Given the description of an element on the screen output the (x, y) to click on. 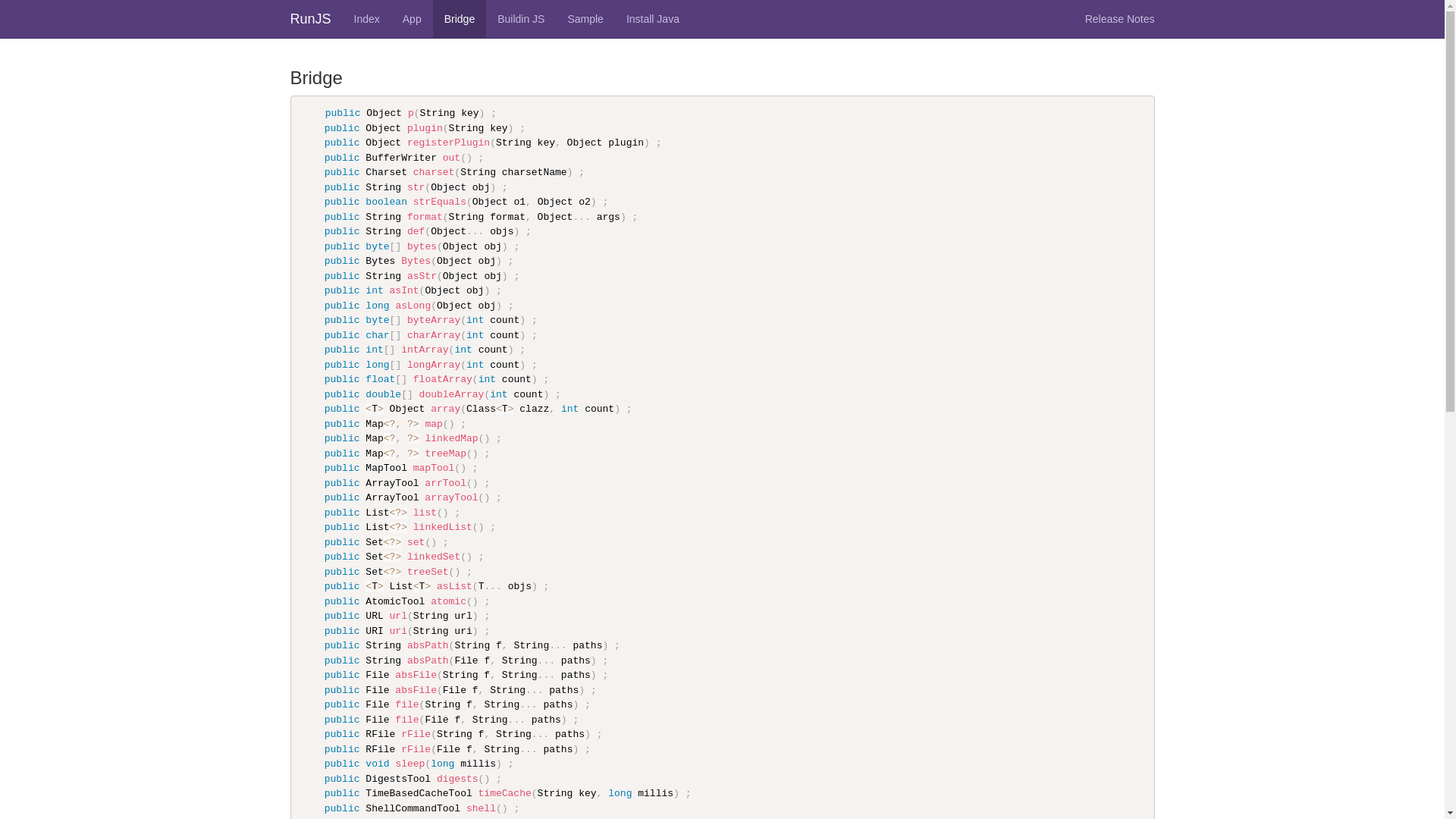
Index Element type: text (366, 18)
App Element type: text (412, 18)
Release Notes Element type: text (1119, 18)
Sample Element type: text (584, 18)
RunJS Element type: text (310, 18)
Bridge Element type: text (459, 18)
Install Java Element type: text (652, 18)
Buildin JS Element type: text (520, 18)
